Given the description of an element on the screen output the (x, y) to click on. 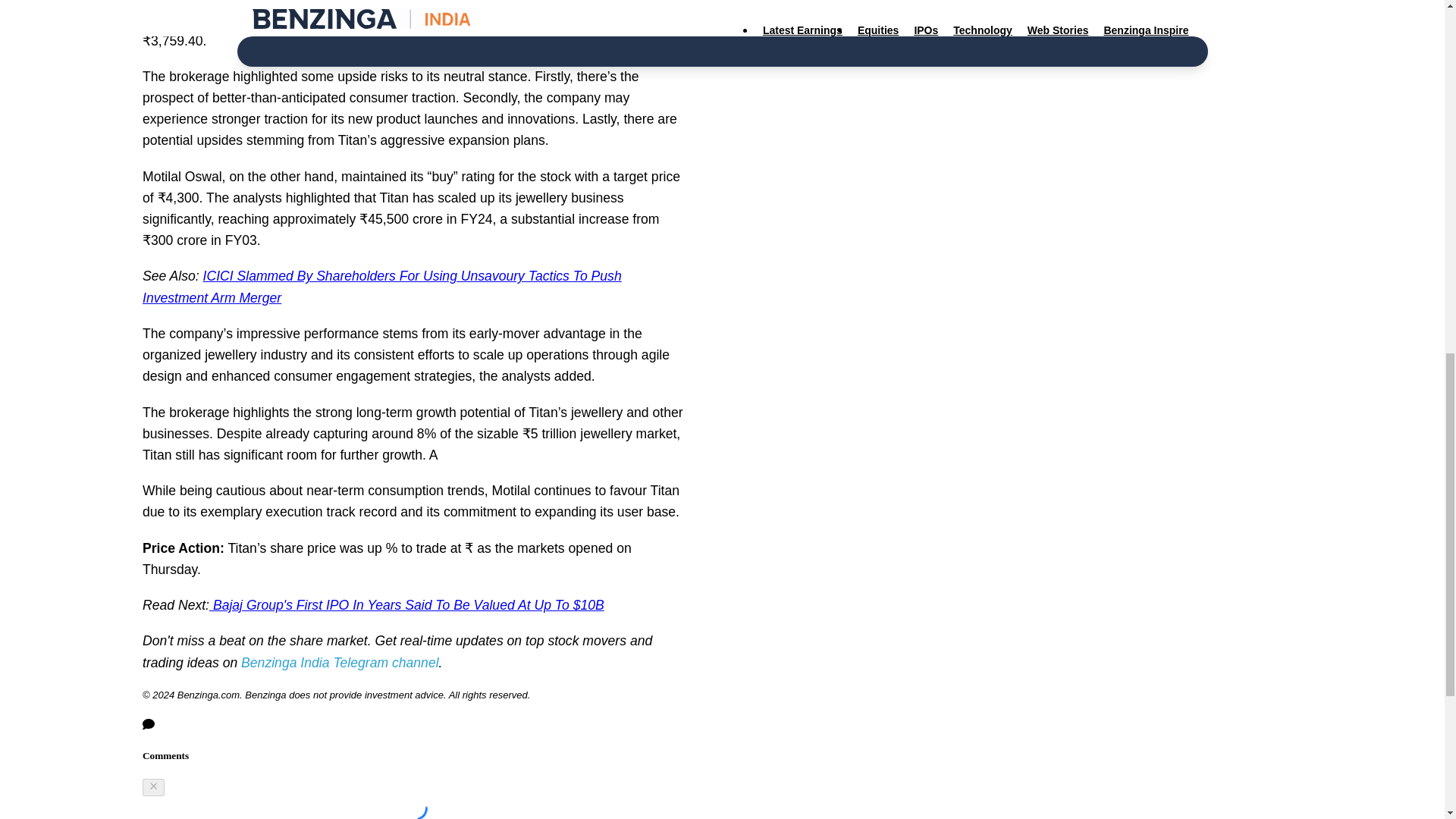
Close menu (153, 786)
Benzinga India Telegram channel (340, 662)
